Given the description of an element on the screen output the (x, y) to click on. 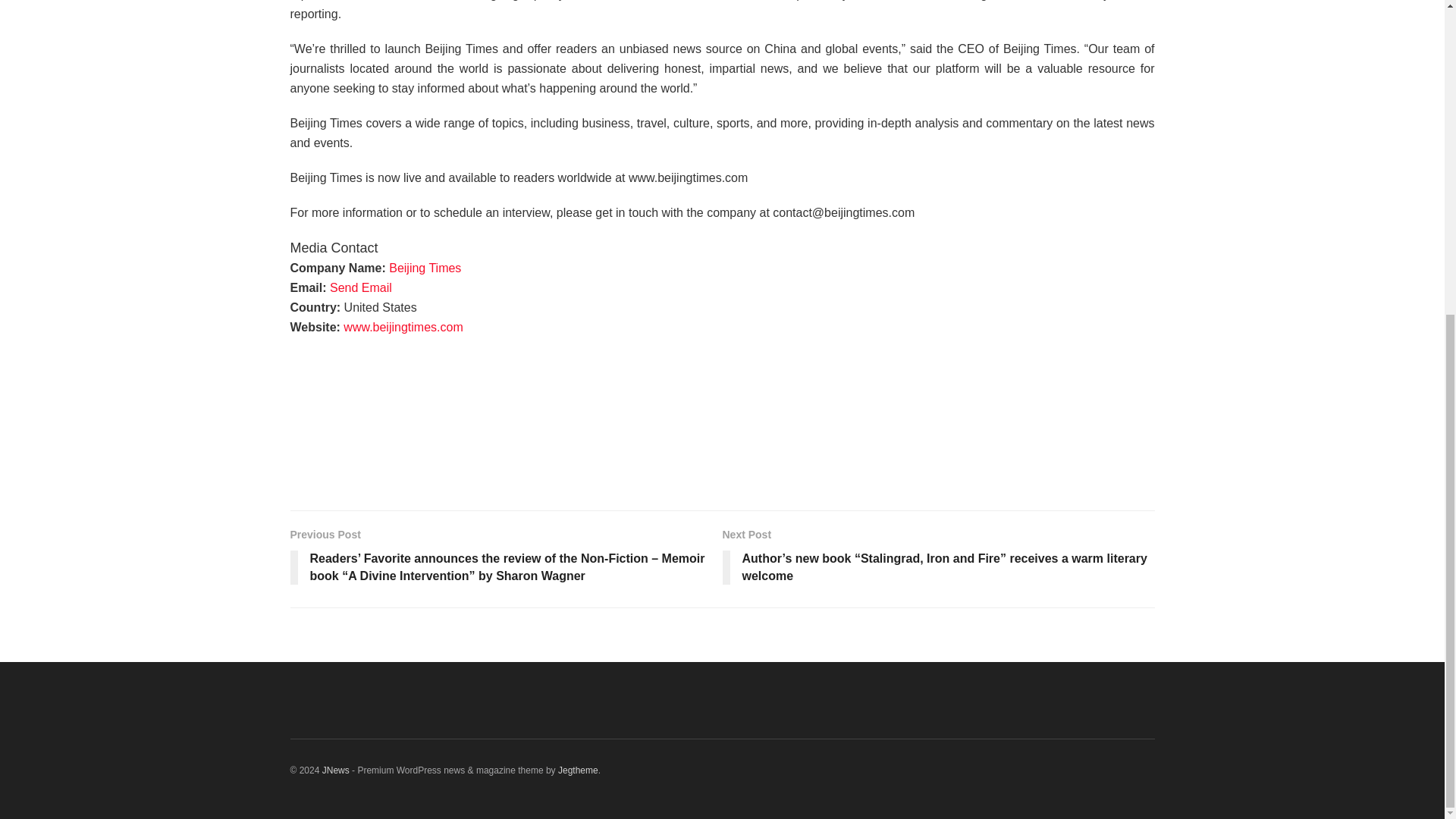
Jegtheme (577, 769)
Beijing Times (424, 267)
www.beijingtimes.com (403, 327)
JNews (335, 769)
Send Email (360, 287)
Jegtheme (577, 769)
